Given the description of an element on the screen output the (x, y) to click on. 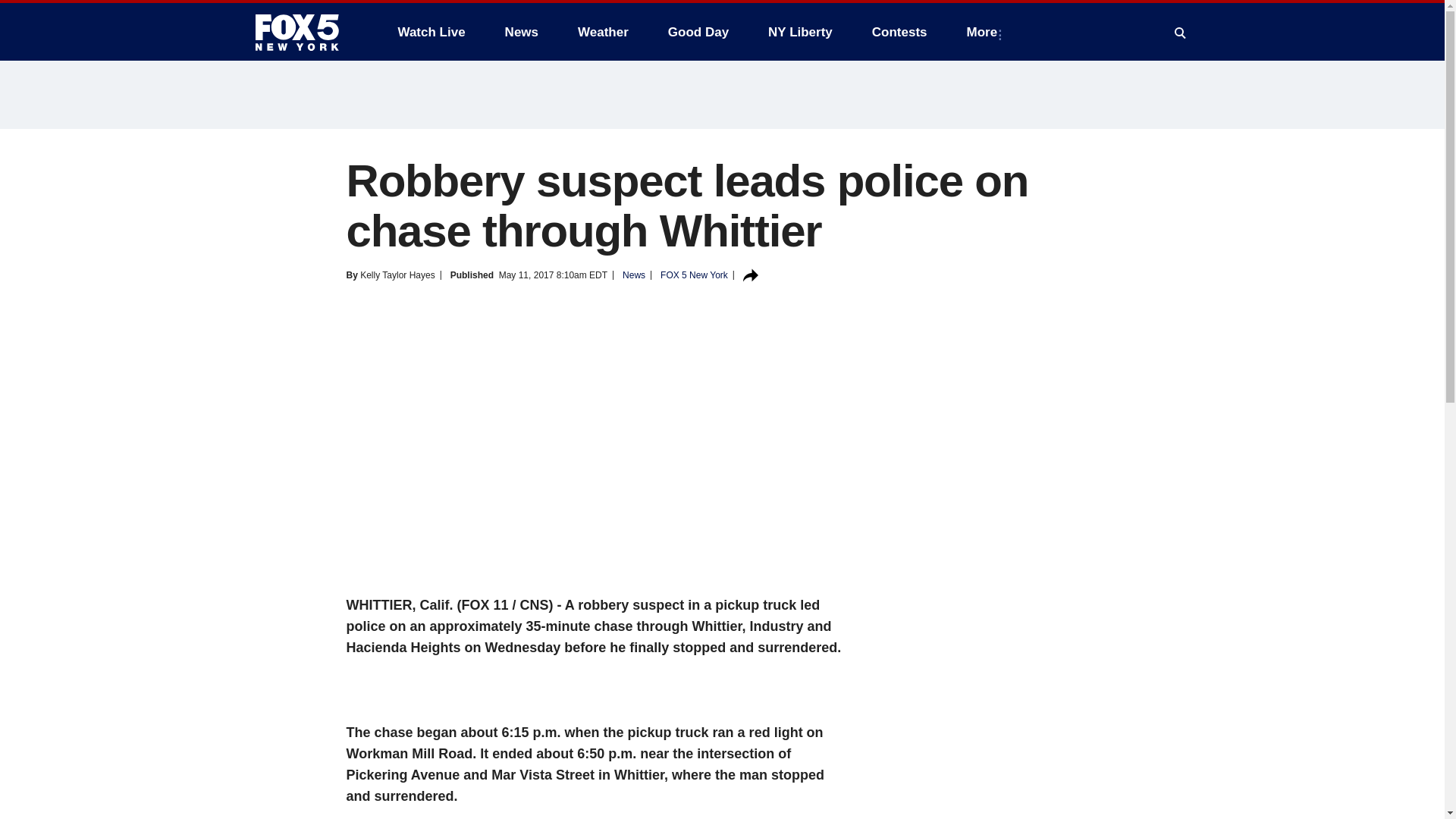
Good Day (698, 32)
News (521, 32)
NY Liberty (799, 32)
More (985, 32)
Weather (603, 32)
Watch Live (431, 32)
Contests (899, 32)
